Given the description of an element on the screen output the (x, y) to click on. 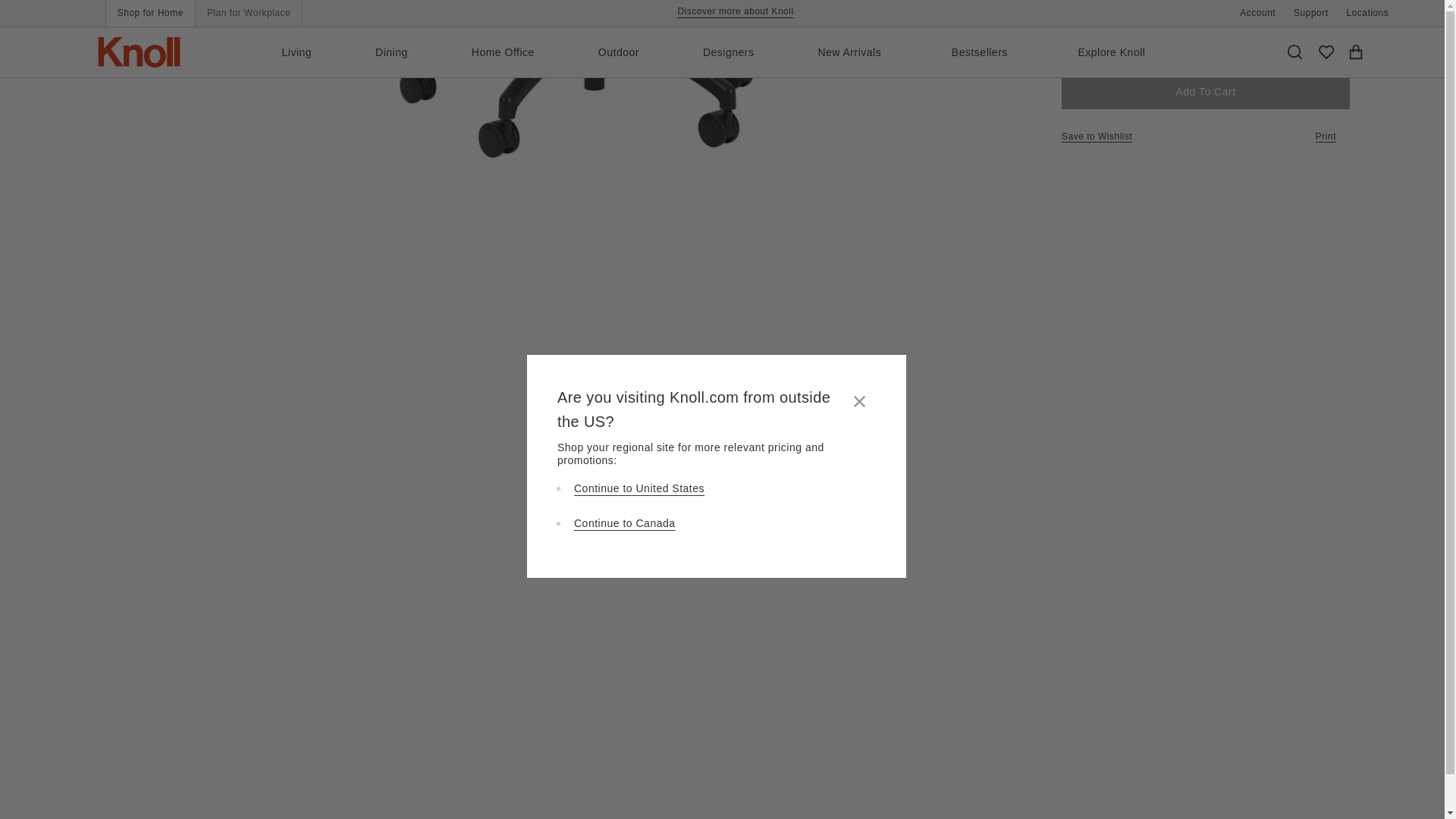
1 (1296, 9)
